Given the description of an element on the screen output the (x, y) to click on. 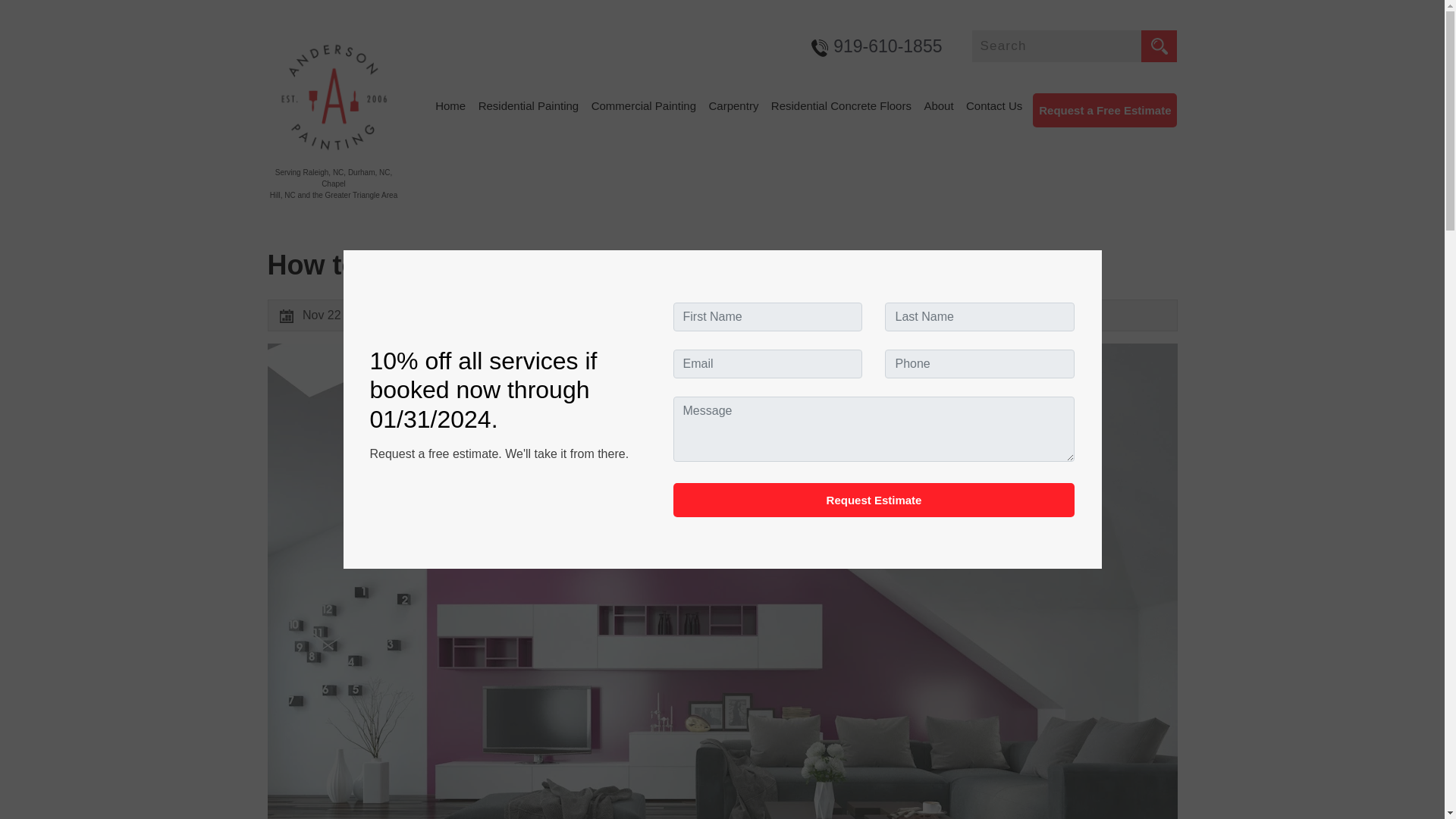
Home (450, 106)
Request a Free Estimate (1104, 110)
Contact Us (994, 106)
About (938, 106)
Commercial Painting (643, 106)
Carpentry (733, 106)
919-610-1855 (887, 46)
Residential Concrete Floors (841, 106)
Anderson Painting (465, 314)
Residential Painting (529, 106)
